Given the description of an element on the screen output the (x, y) to click on. 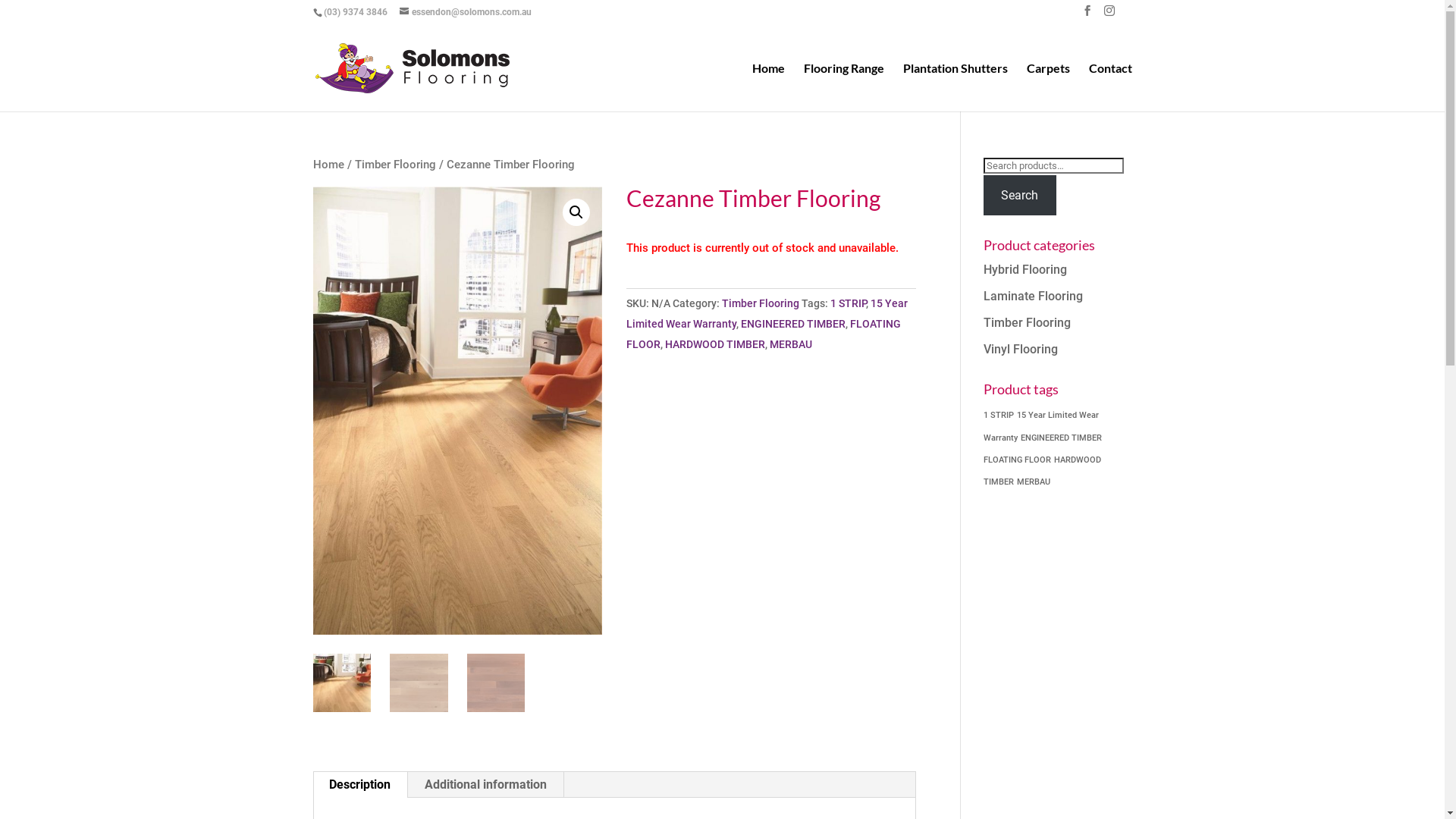
Flooring Range Element type: text (843, 86)
Vinyl Flooring Element type: text (1020, 349)
HARDWOOD TIMBER Element type: text (1042, 470)
Timber Flooring Element type: text (395, 164)
MERBAU Element type: text (790, 344)
Timber Flooring Element type: text (1026, 322)
Laminate Flooring Element type: text (1032, 295)
ENGINEERED TIMBER Element type: text (1060, 437)
Plantation Shutters Element type: text (954, 86)
FLOATING FLOOR Element type: text (1017, 459)
Home Element type: text (327, 164)
Additional information Element type: text (485, 784)
HARDWOOD TIMBER Element type: text (715, 344)
Hybrid Flooring Element type: text (1024, 269)
15 Year Limited Wear Warranty Element type: text (766, 313)
Timber Flooring Element type: text (760, 303)
1 STRIP Element type: text (848, 303)
1 STRIP Element type: text (998, 415)
Search Element type: text (1019, 195)
Description Element type: text (359, 784)
essendon@solomons.com.au Element type: text (464, 11)
(03) 9374 3846 Element type: text (354, 11)
ENGINEERED TIMBER Element type: text (792, 323)
cezanne timber floors essendon Element type: hover (457, 410)
Contact Element type: text (1110, 86)
Carpets Element type: text (1048, 86)
MERBAU Element type: text (1033, 481)
15 Year Limited Wear Warranty Element type: text (1040, 426)
FLOATING FLOOR Element type: text (763, 333)
Home Element type: text (768, 86)
